Given the description of an element on the screen output the (x, y) to click on. 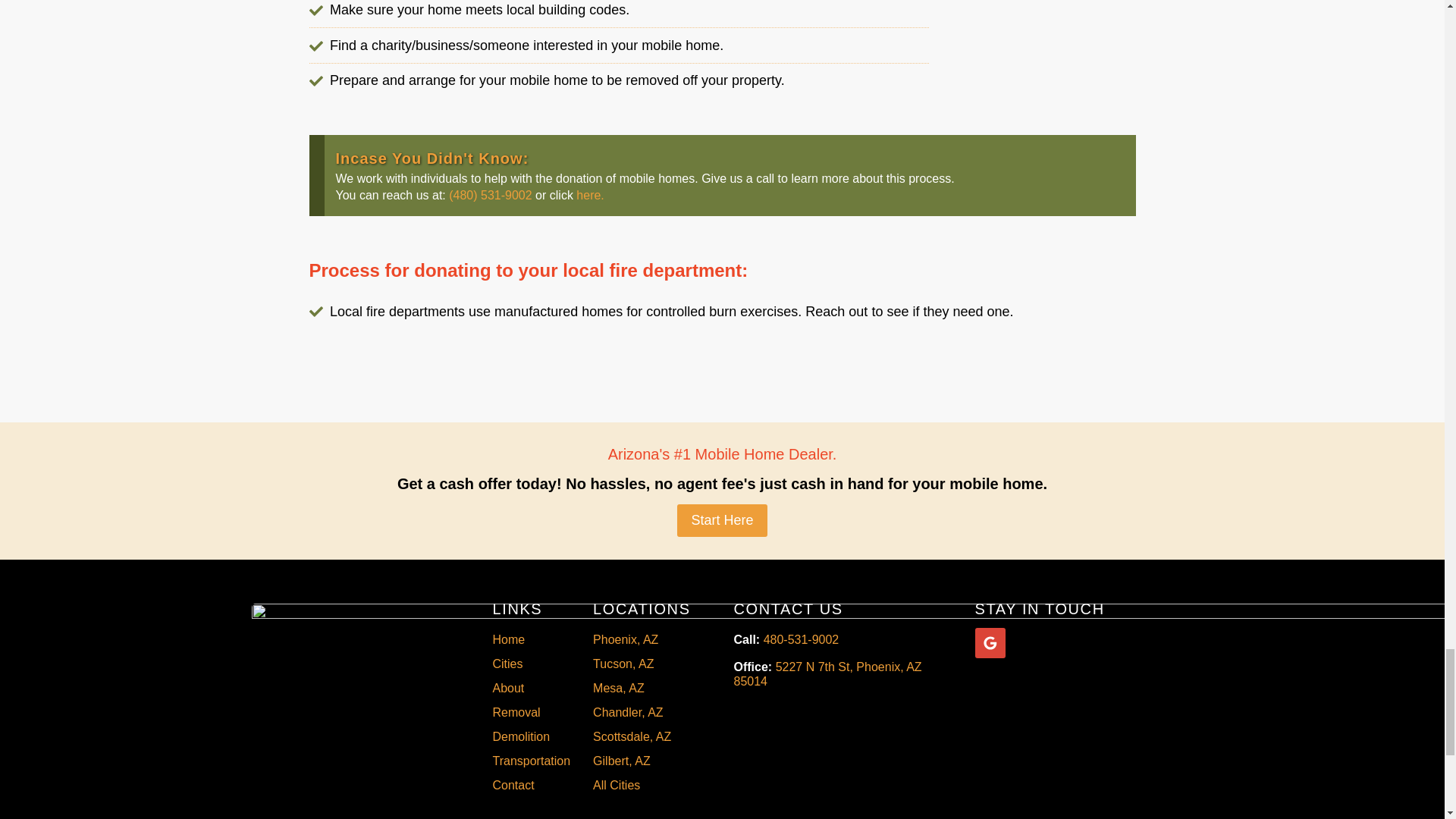
Chandler, AZ (641, 712)
Scottsdale, AZ (641, 736)
here. (590, 195)
Demolition (531, 736)
Start Here (722, 520)
About (531, 688)
Removal (531, 712)
Contact (531, 785)
Phoenix, AZ (641, 639)
Gilbert, AZ (641, 761)
